Given the description of an element on the screen output the (x, y) to click on. 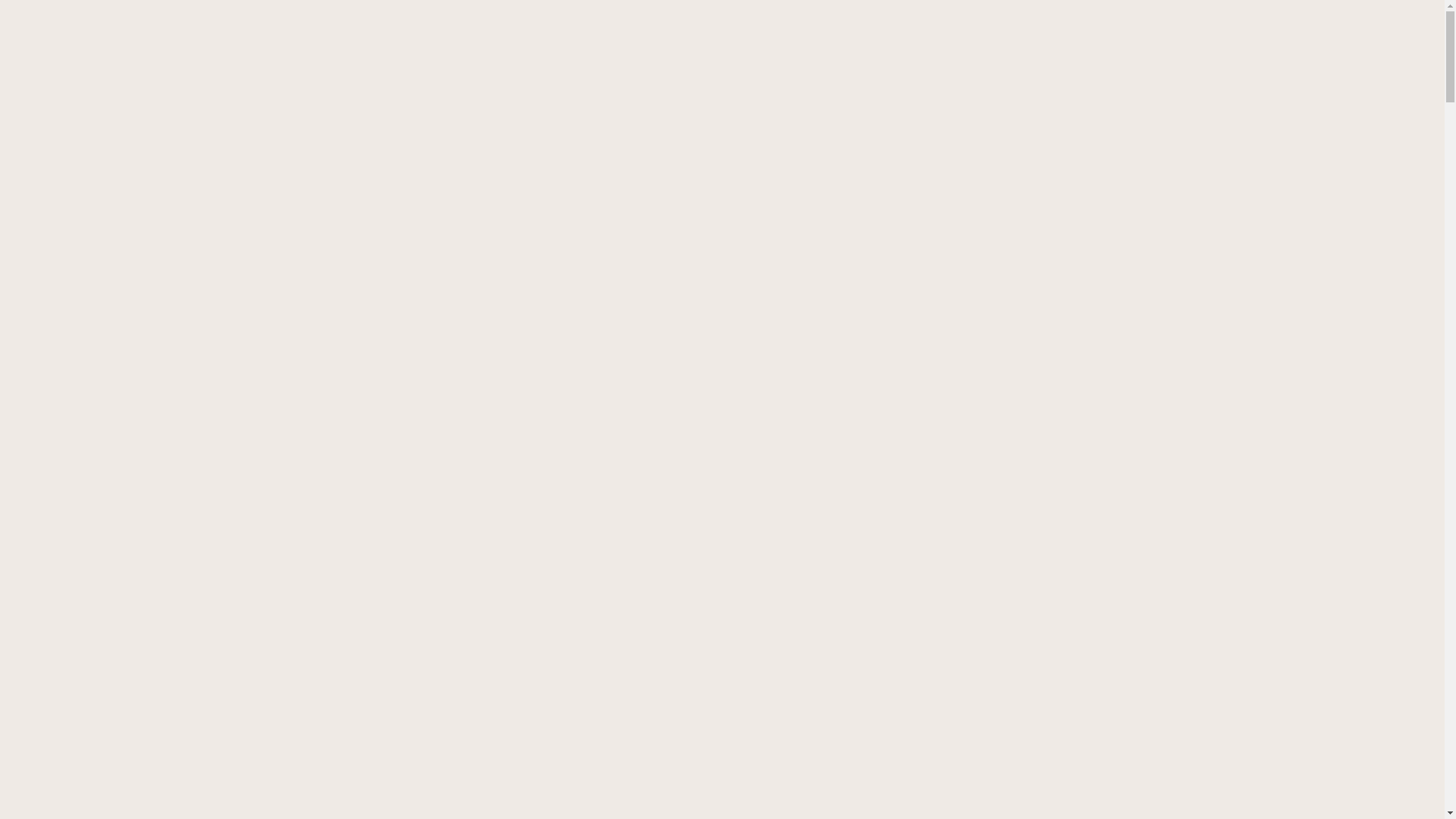
Log In Element type: text (24, 84)
15 minute diagnostic with Sean Element type: text (1352, 52)
JOIN NOW Element type: text (126, 288)
Contact Element type: text (1417, 68)
2x Close Rate Intro Training Element type: text (1185, 52)
About Element type: text (1375, 68)
